Given the description of an element on the screen output the (x, y) to click on. 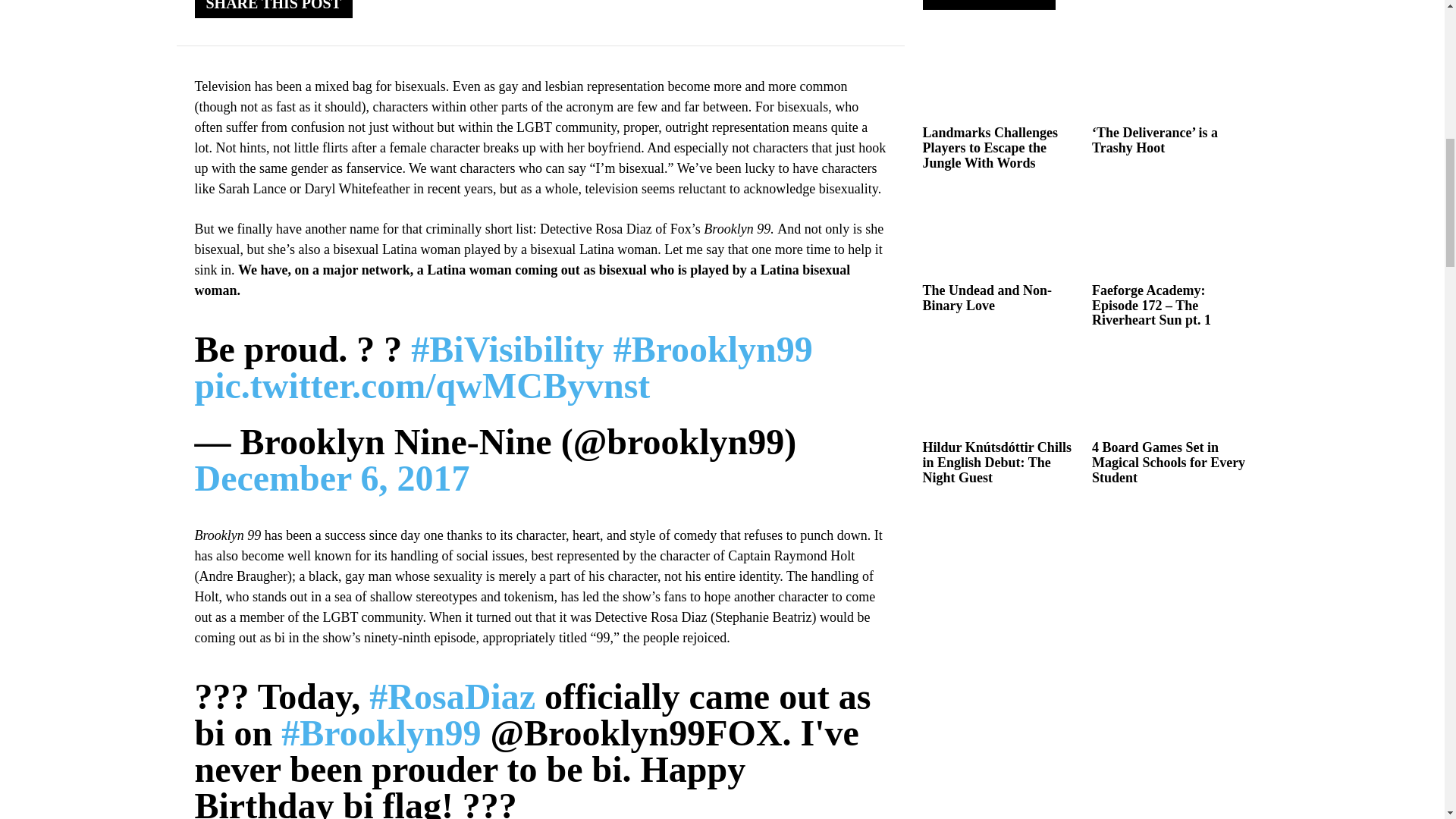
Landmarks Challenges Players to Escape the Jungle With Words (1000, 76)
Landmarks Challenges Players to Escape the Jungle With Words (989, 147)
The Undead and Non-Binary Love (986, 297)
The Undead and Non-Binary Love (1000, 233)
